Given the description of an element on the screen output the (x, y) to click on. 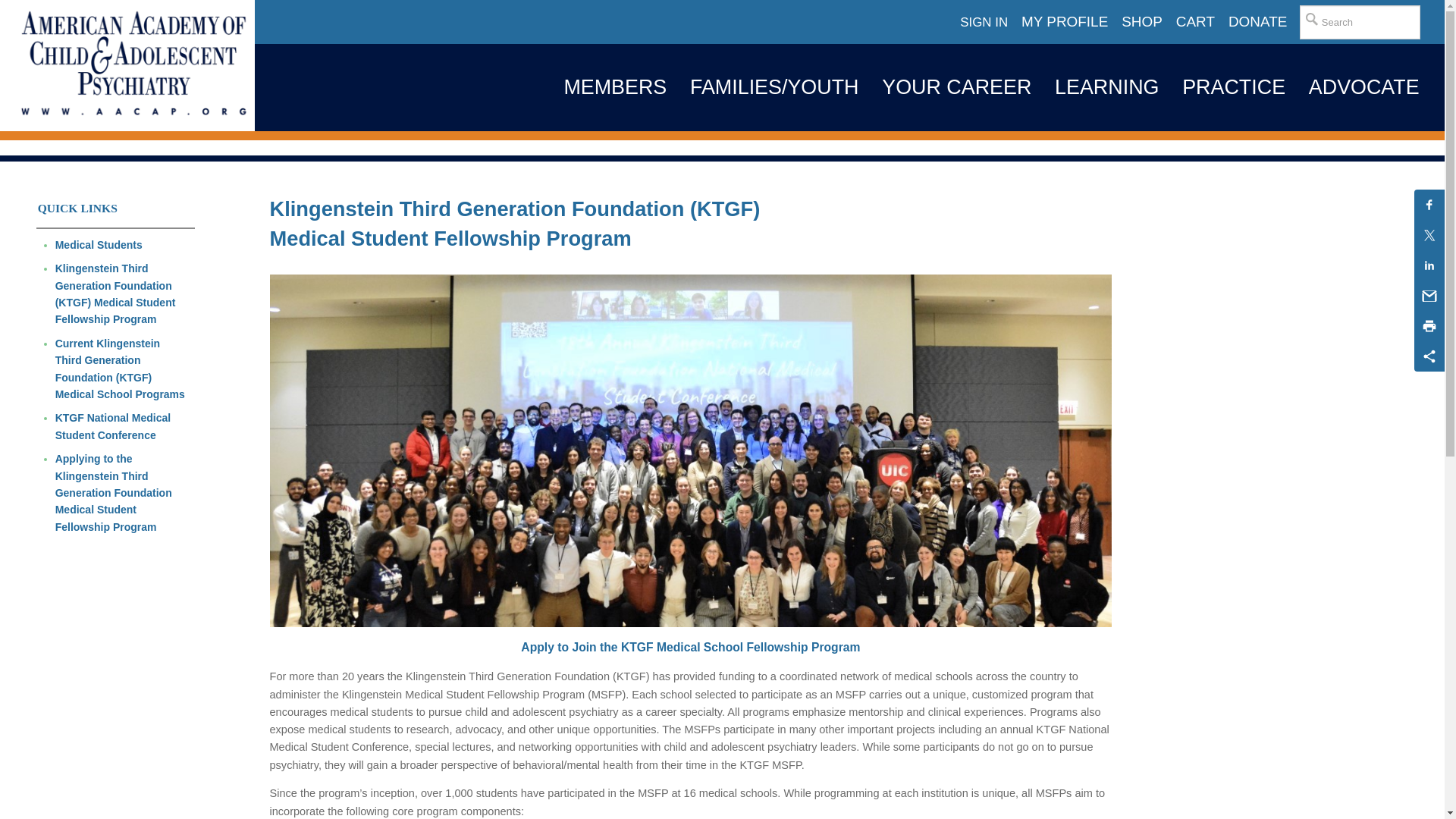
SIGN IN (983, 22)
CART (1195, 21)
MY PROFILE (1064, 21)
DONATE (1257, 21)
MEMBERS (614, 87)
SHOP (1142, 21)
